Given the description of an element on the screen output the (x, y) to click on. 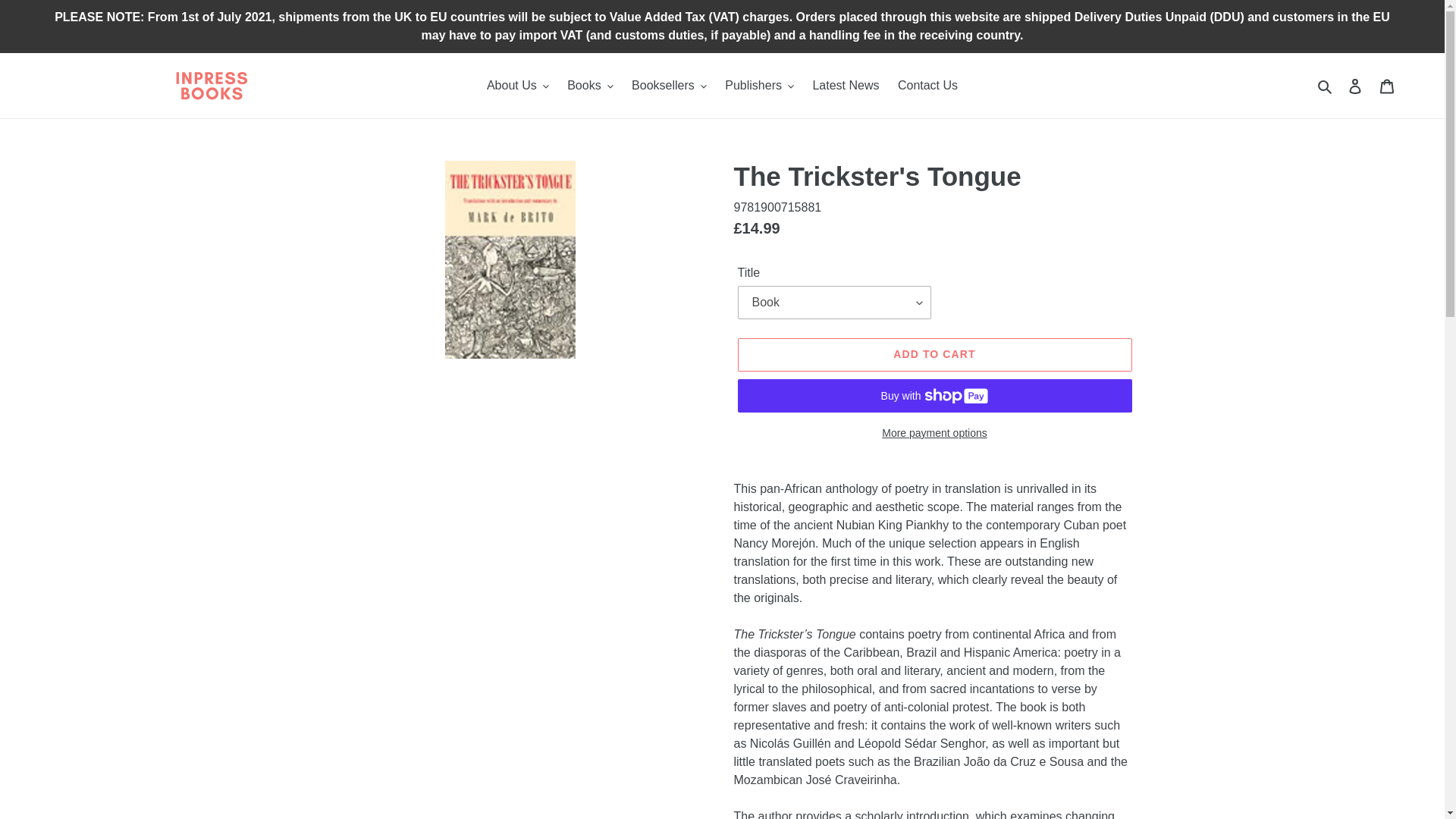
About Us (517, 85)
Booksellers (669, 85)
Latest News (845, 85)
Books (589, 85)
Publishers (759, 85)
